Given the description of an element on the screen output the (x, y) to click on. 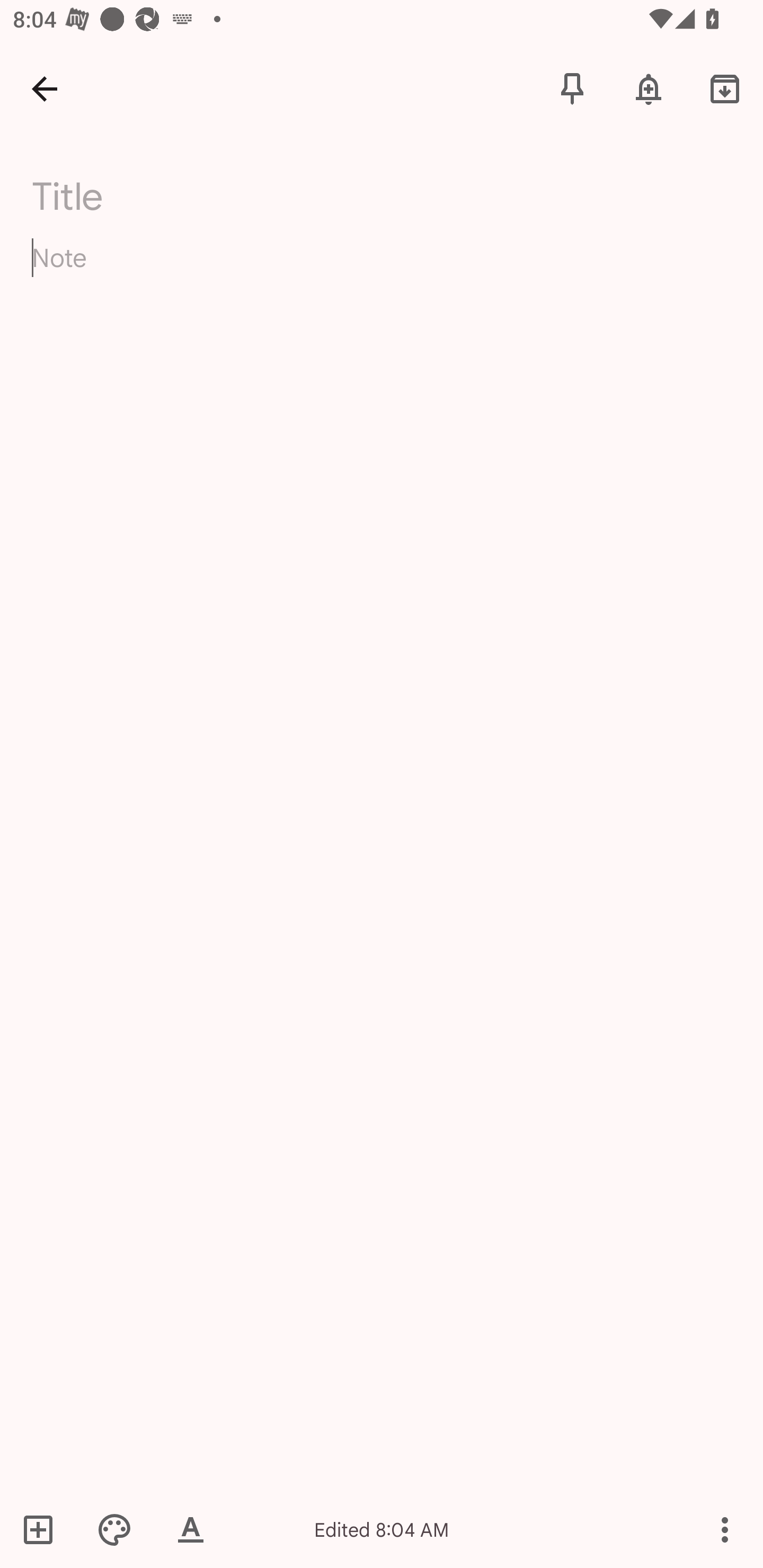
Navigate up (44, 88)
Pin (572, 88)
Reminder (648, 88)
Archive (724, 88)
.  (193, 192)
Note (381, 273)
New list (44, 1529)
Theme (114, 1529)
Show formatting controls (190, 1529)
Action (724, 1529)
